Given the description of an element on the screen output the (x, y) to click on. 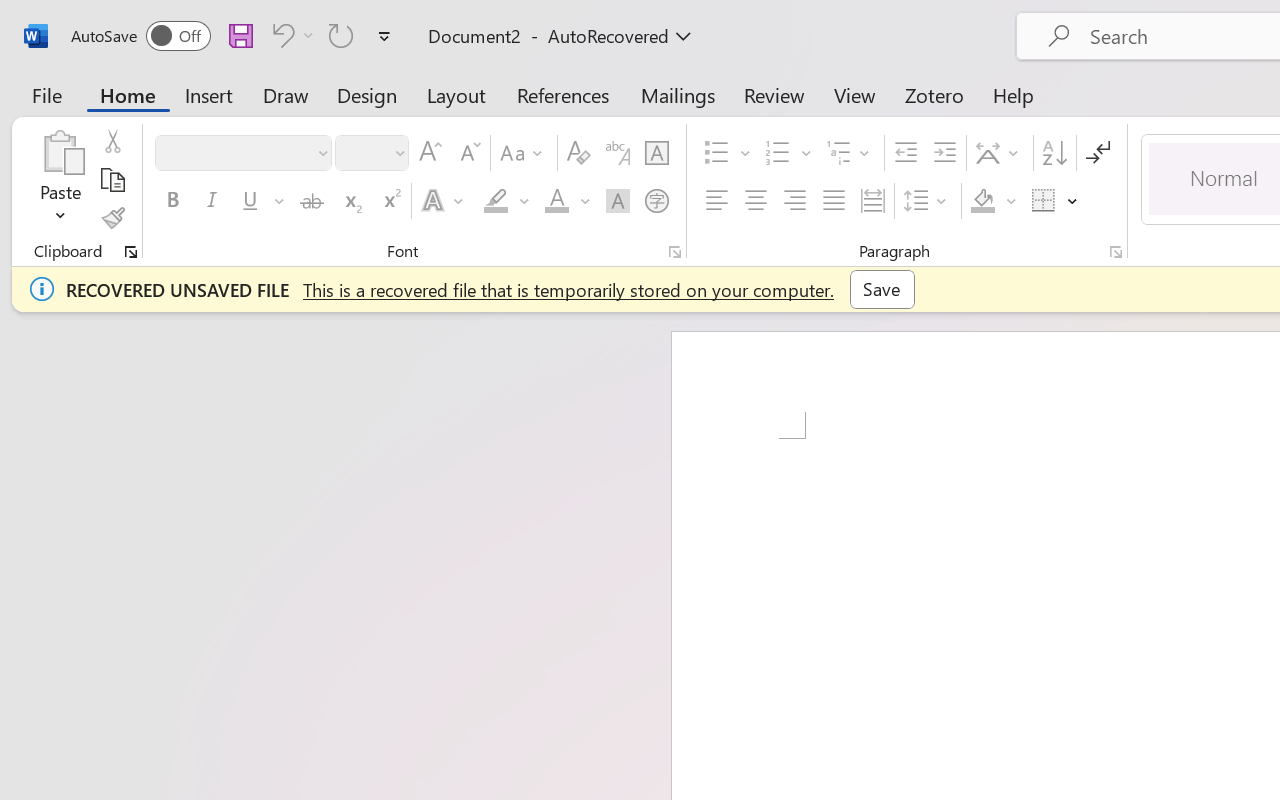
Line and Paragraph Spacing (927, 201)
Font... (675, 252)
Phonetic Guide... (618, 153)
Open (399, 152)
Copy (112, 179)
Align Left (716, 201)
Justify (834, 201)
Paragraph... (1115, 252)
